Given the description of an element on the screen output the (x, y) to click on. 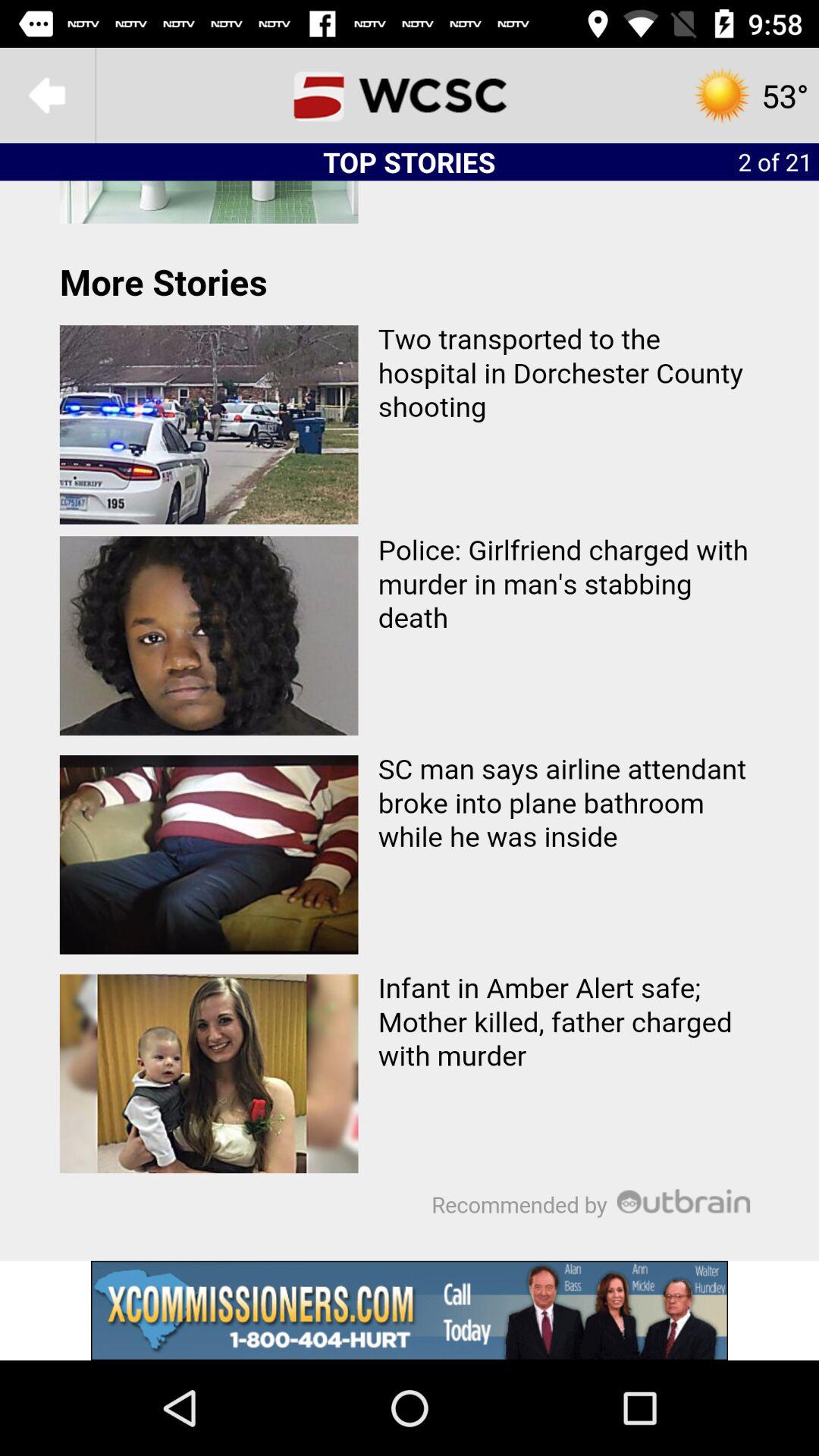
article menu (409, 720)
